Given the description of an element on the screen output the (x, y) to click on. 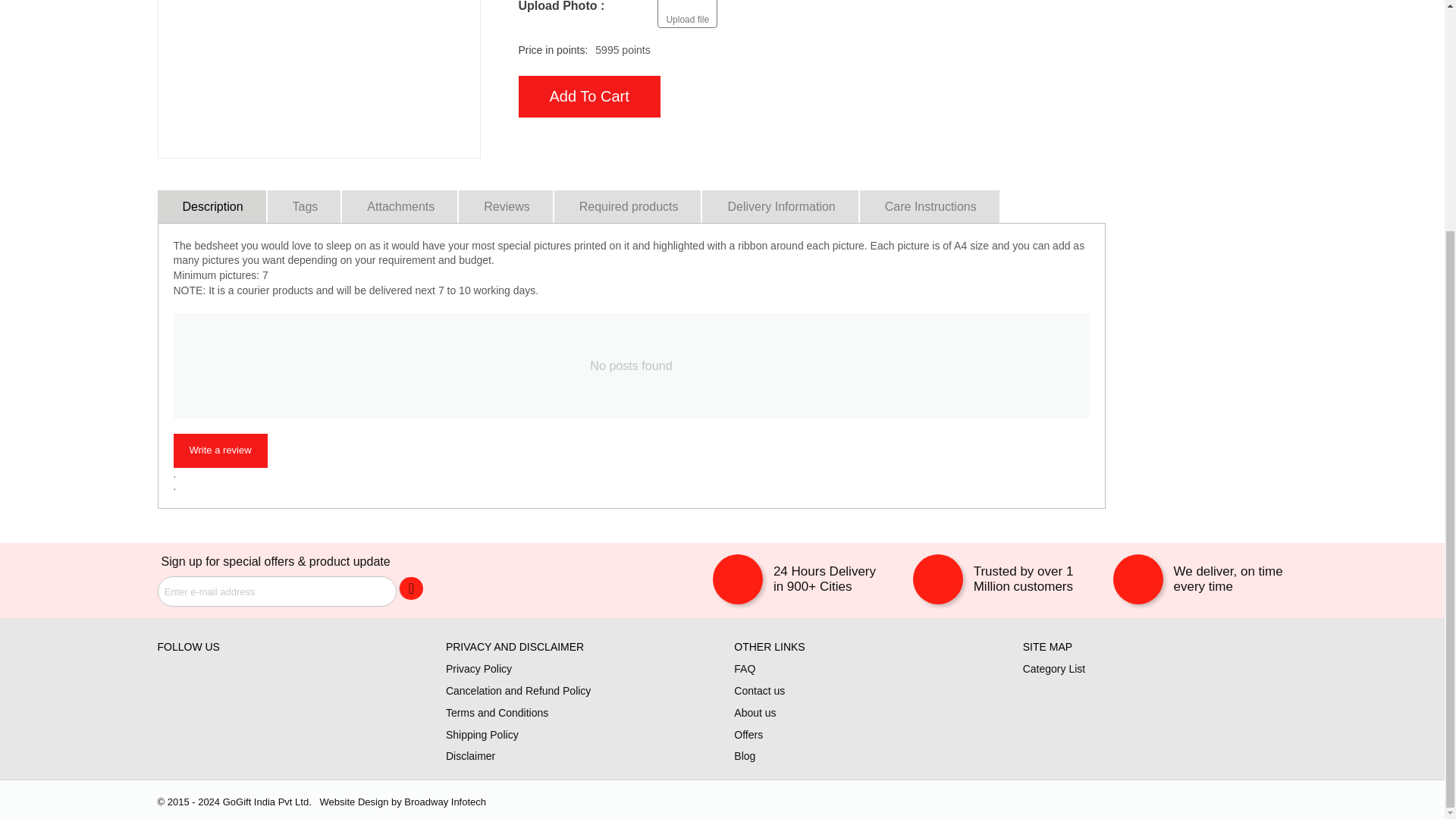
wedding personalized bedsheet (318, 79)
Write a review (219, 450)
Enter e-mail address (276, 591)
Go (410, 588)
